Given the description of an element on the screen output the (x, y) to click on. 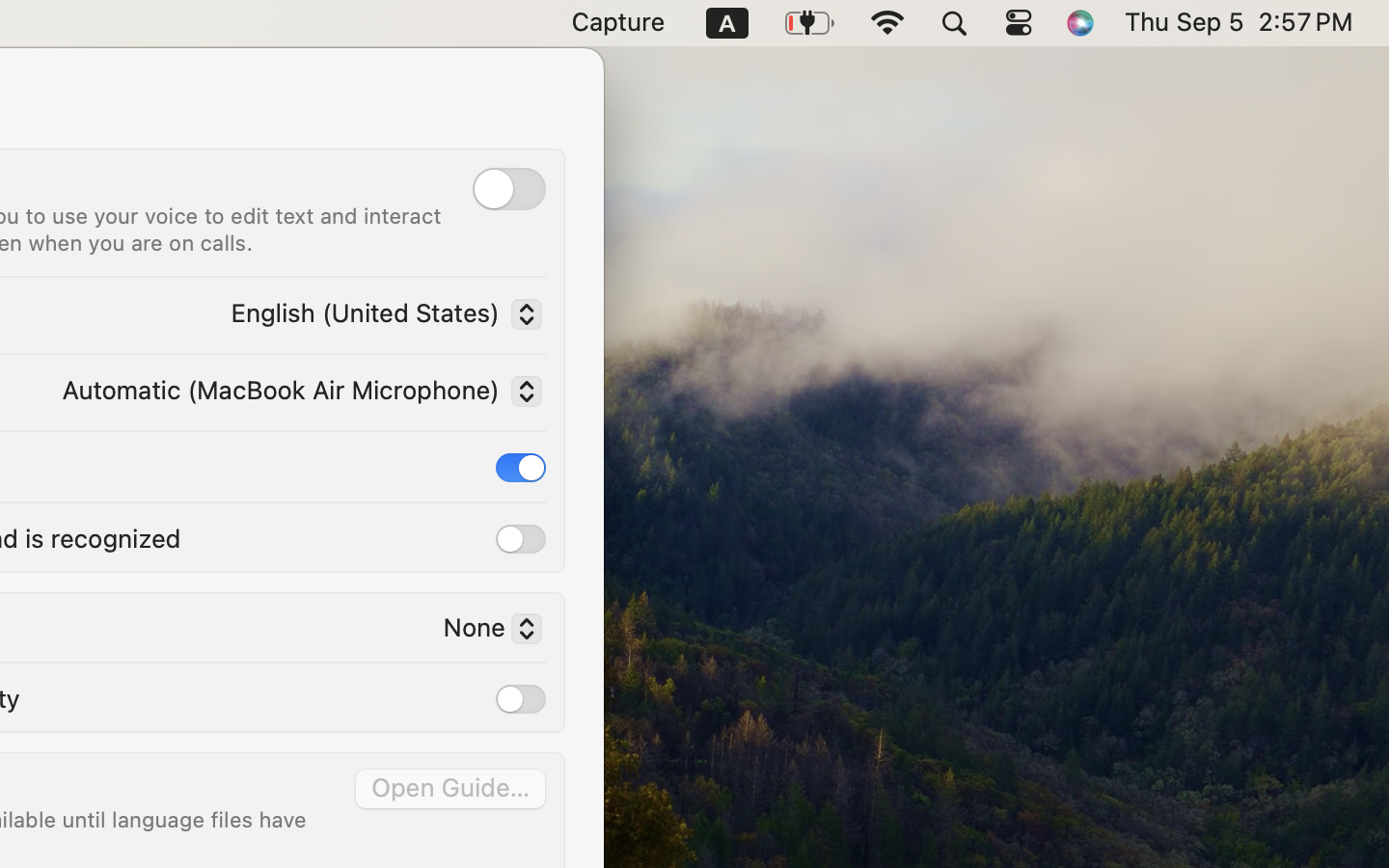
English (United States) Element type: AXPopUpButton (380, 317)
Automatic (MacBook Air Microphone) Element type: AXPopUpButton (296, 394)
1 Element type: AXCheckBox (520, 467)
